Given the description of an element on the screen output the (x, y) to click on. 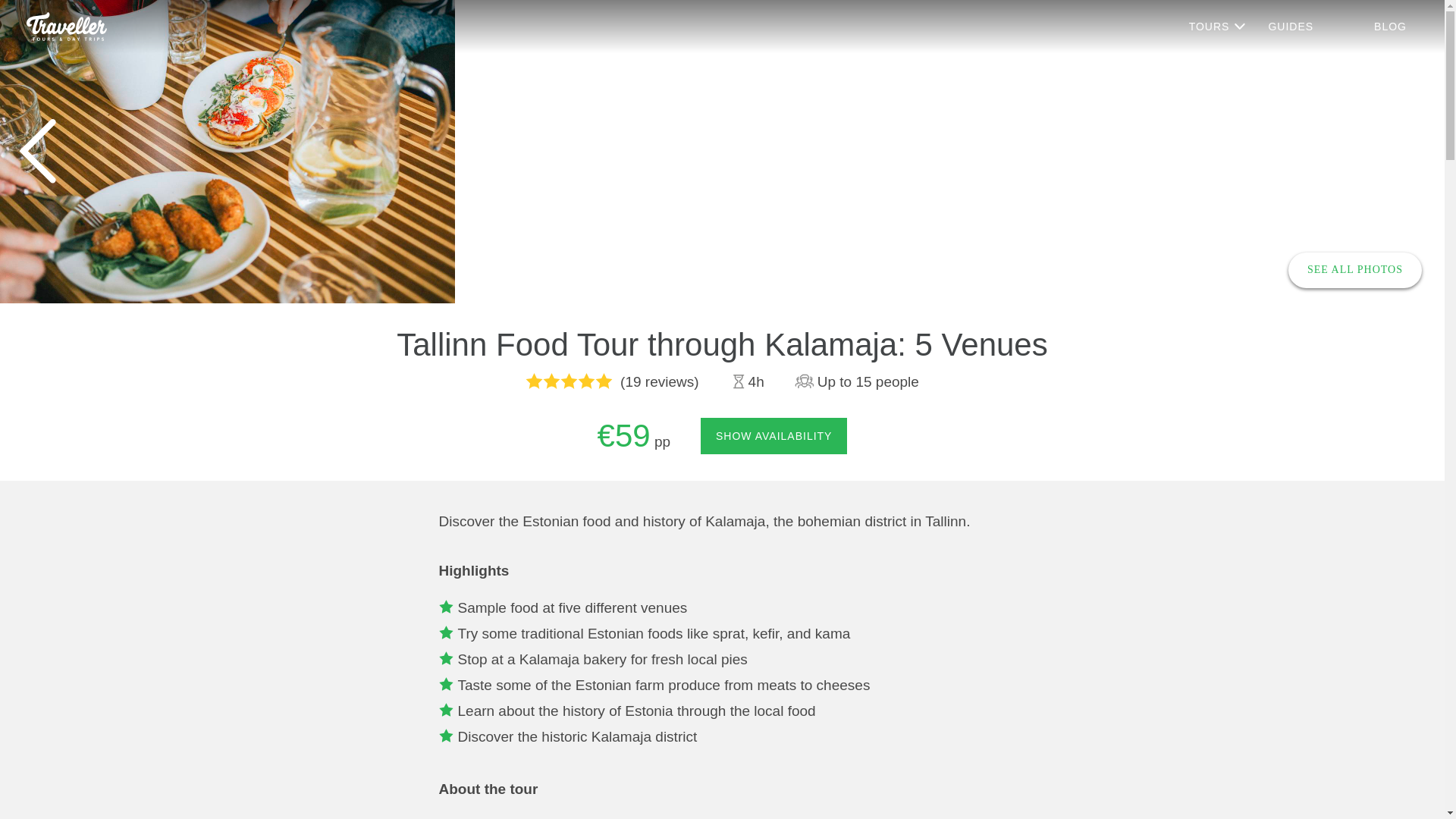
GUIDES (1290, 26)
BLOG (1390, 26)
TOURS (1217, 26)
SHOW AVAILABILITY (773, 435)
